Given the description of an element on the screen output the (x, y) to click on. 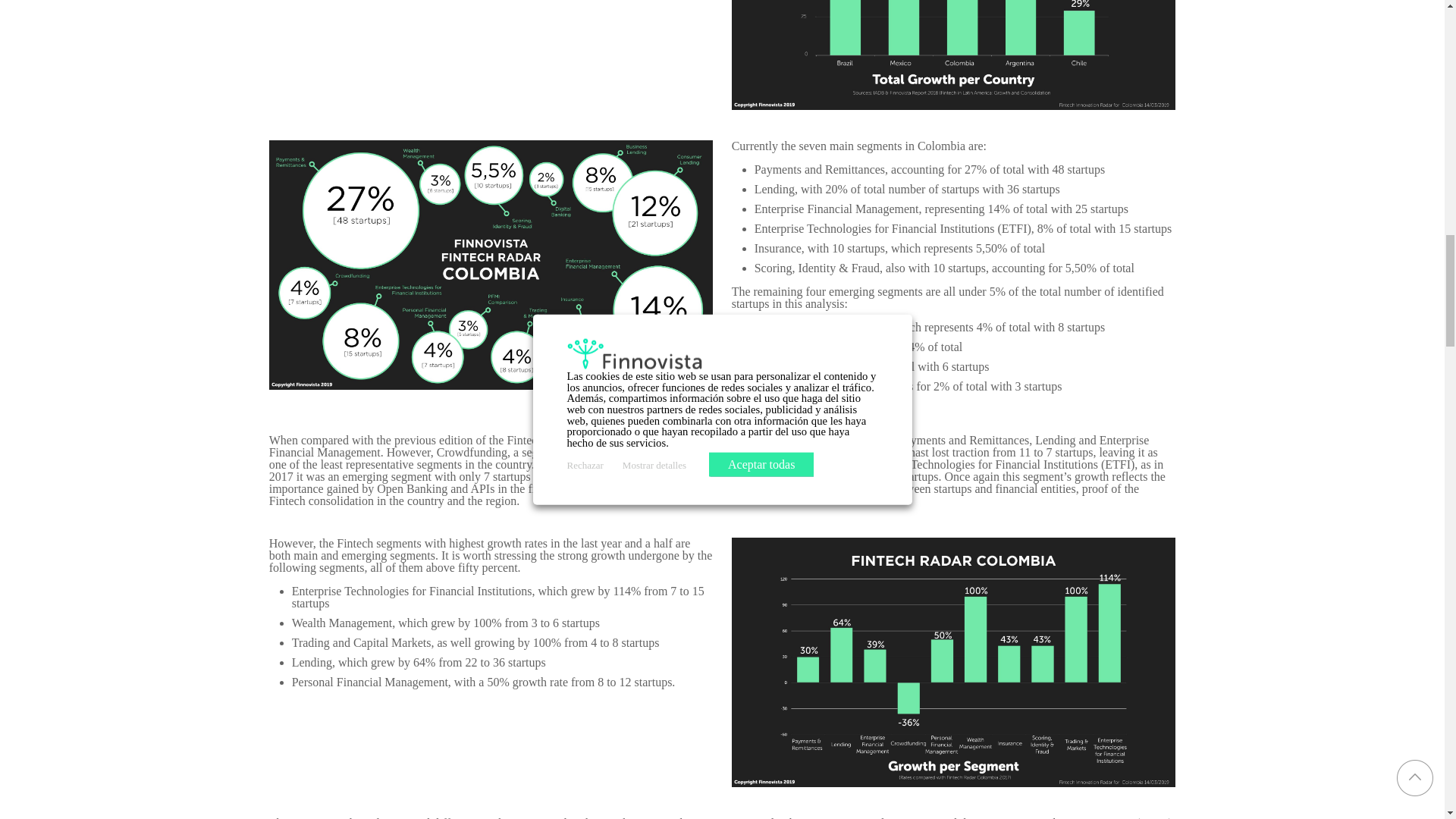
3-Growth-per-segment.001 (954, 662)
2-Burbujas-porcentajes.001 (491, 264)
1-Growth-per-country.001 (954, 54)
